Given the description of an element on the screen output the (x, y) to click on. 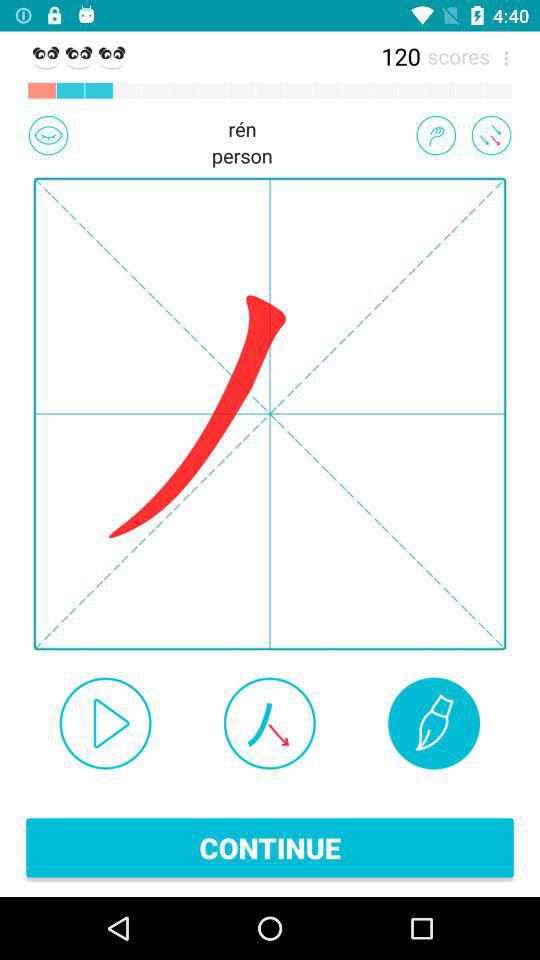
launch the icon to the left of person icon (48, 135)
